Given the description of an element on the screen output the (x, y) to click on. 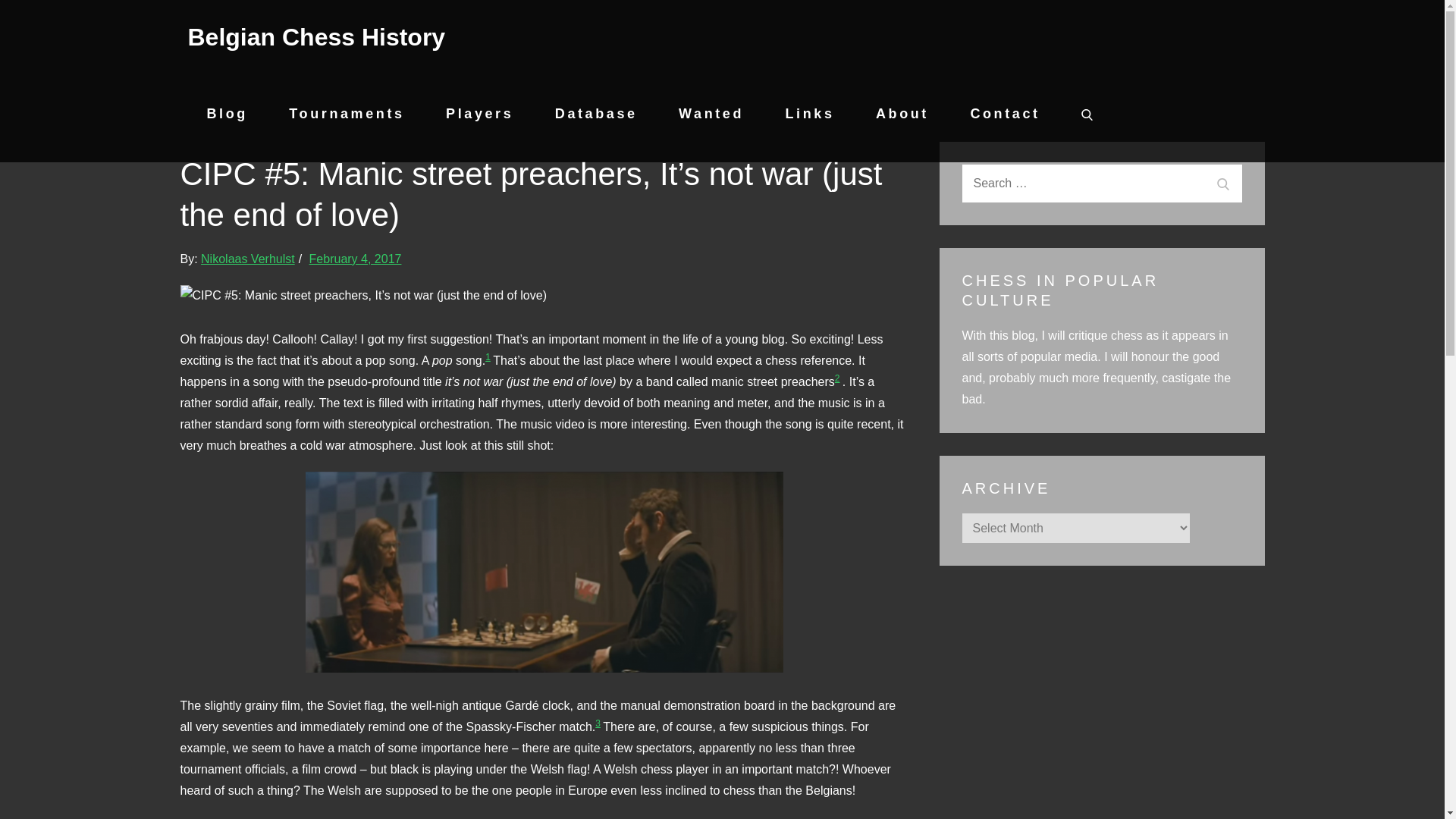
Nikolaas Verhulst (247, 258)
Players (479, 113)
Tournaments (346, 113)
February 4, 2017 (354, 258)
Database (595, 113)
Not manic, no preaching, and no street in sight. (544, 571)
Belgian Chess History (316, 36)
Search (1222, 183)
Contact (1004, 113)
